Given the description of an element on the screen output the (x, y) to click on. 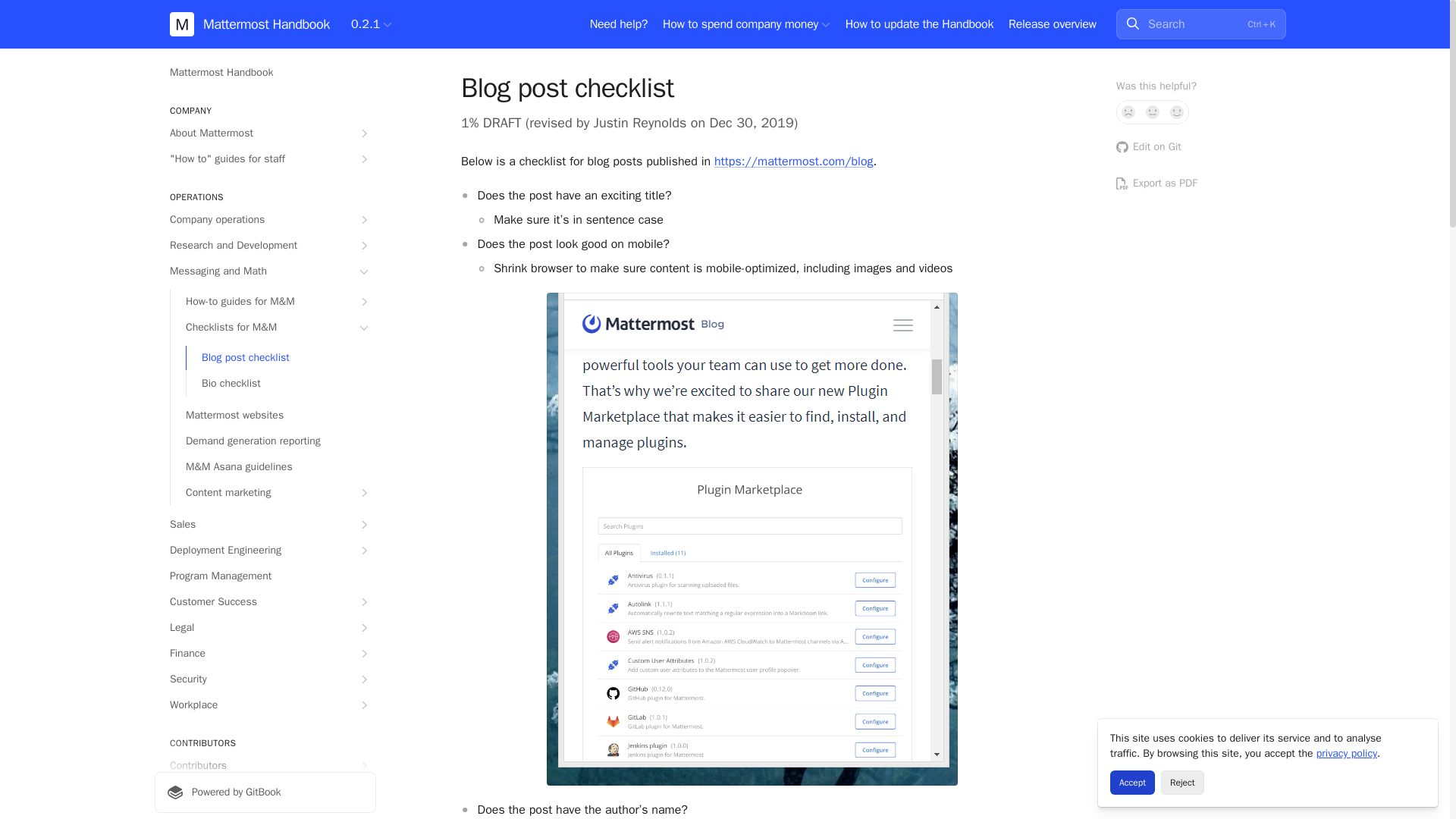
Company operations (264, 219)
About Mattermost (264, 133)
How to spend company money (745, 24)
Yes, it was! (1176, 111)
"How to" guides for staff (264, 159)
Not sure (1152, 111)
Release overview (1052, 24)
Close (1419, 737)
Need help? (618, 24)
How to update the Handbook (918, 24)
